Given the description of an element on the screen output the (x, y) to click on. 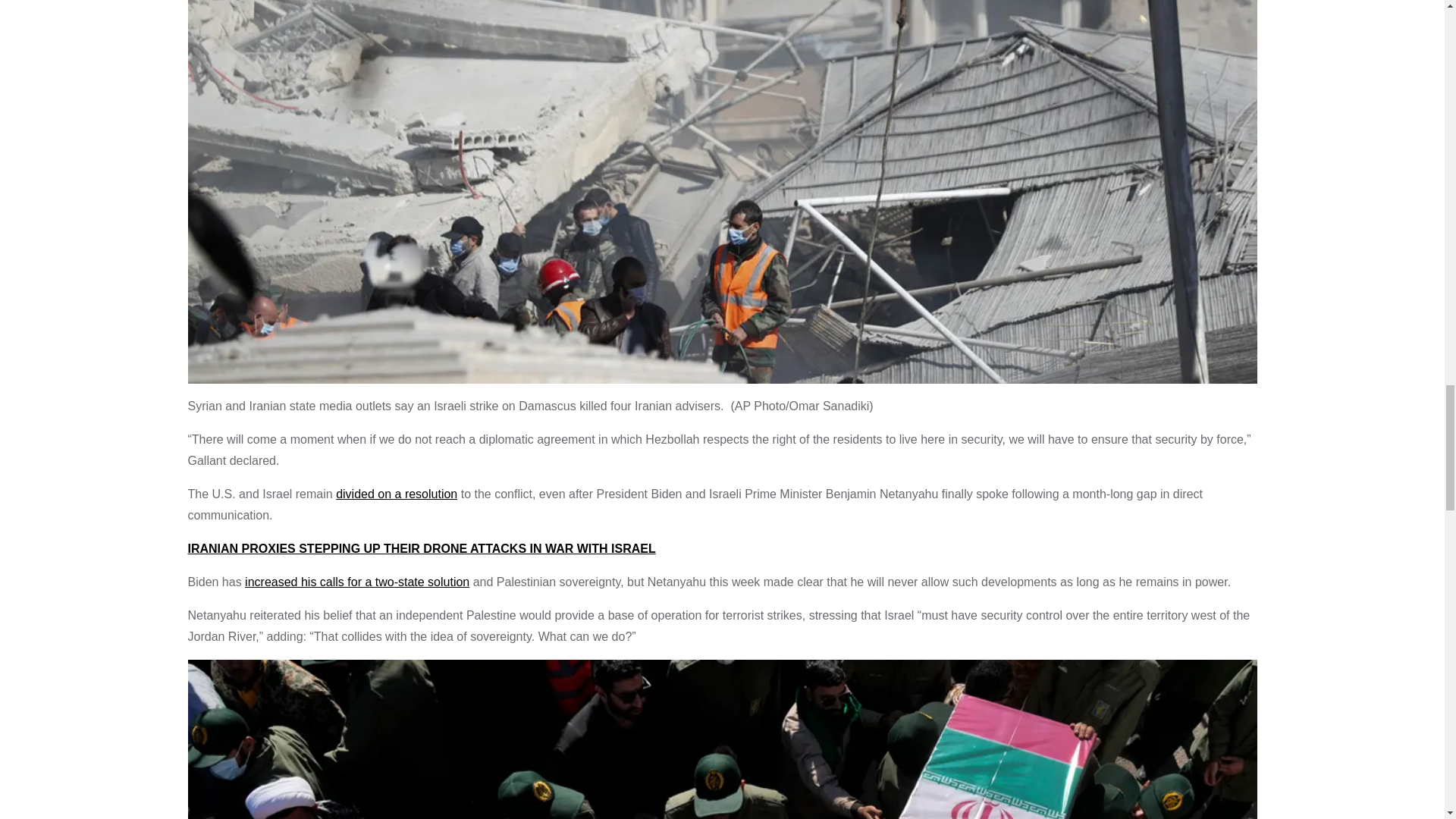
divided on a resolution (396, 493)
increased his calls for a two-state solution (356, 581)
